Given the description of an element on the screen output the (x, y) to click on. 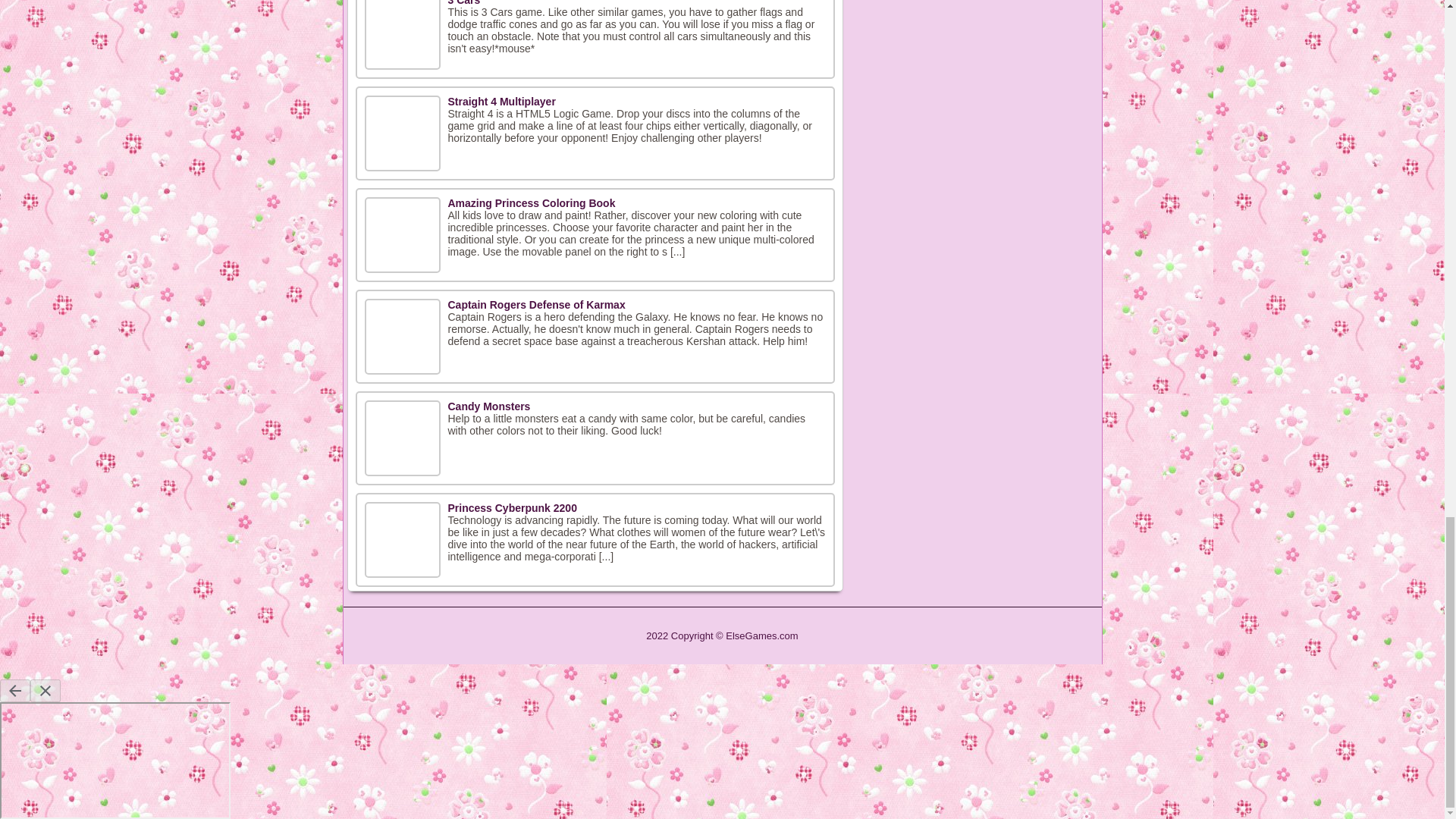
Amazing Princess Coloring Book (530, 203)
3 Cars (463, 2)
Straight 4 Multiplayer (500, 101)
